Given the description of an element on the screen output the (x, y) to click on. 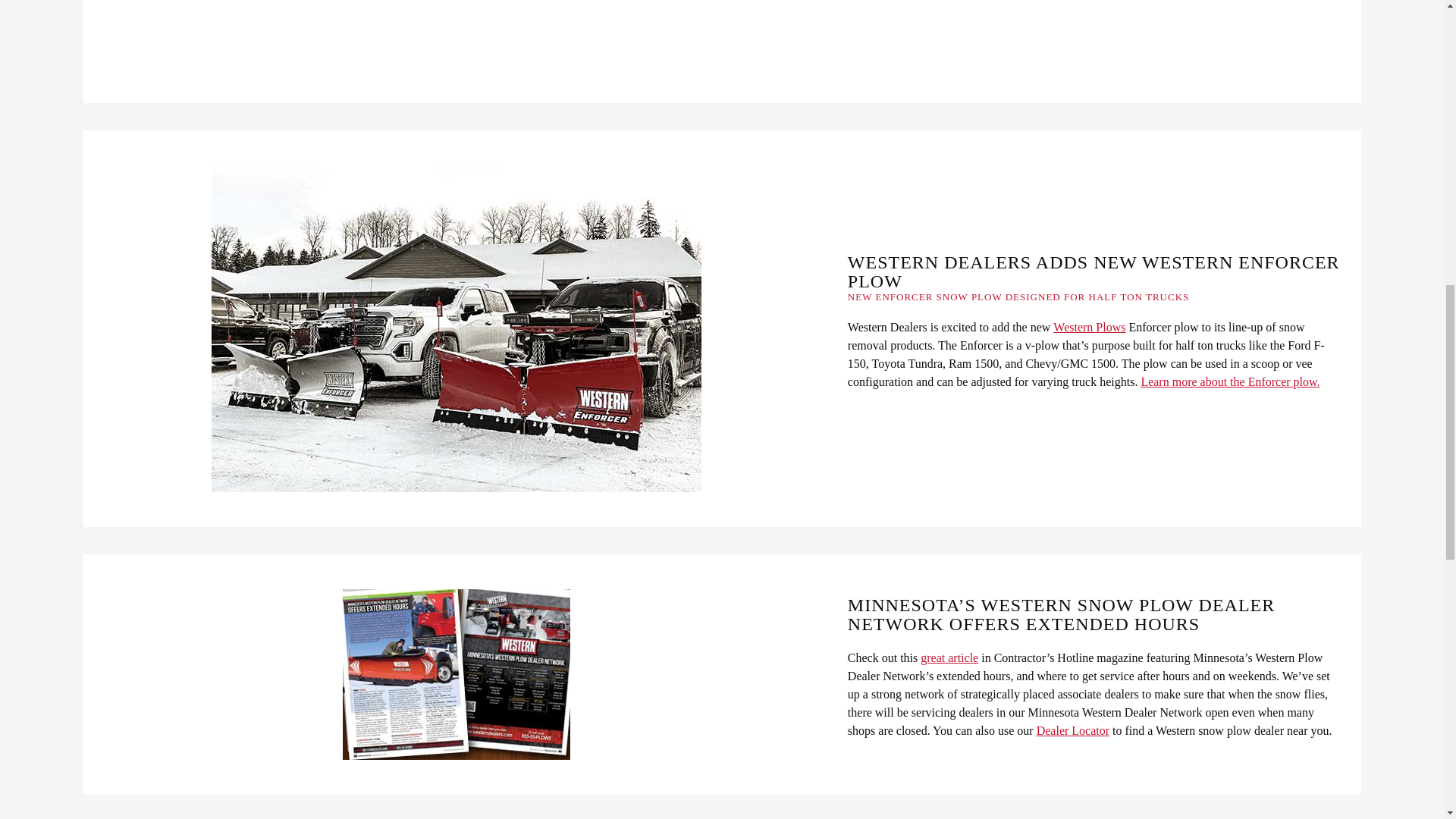
Western Plows (1088, 327)
Dealer Locator (1072, 730)
Learn more about the Enforcer plow. (1229, 382)
great article (949, 658)
